Given the description of an element on the screen output the (x, y) to click on. 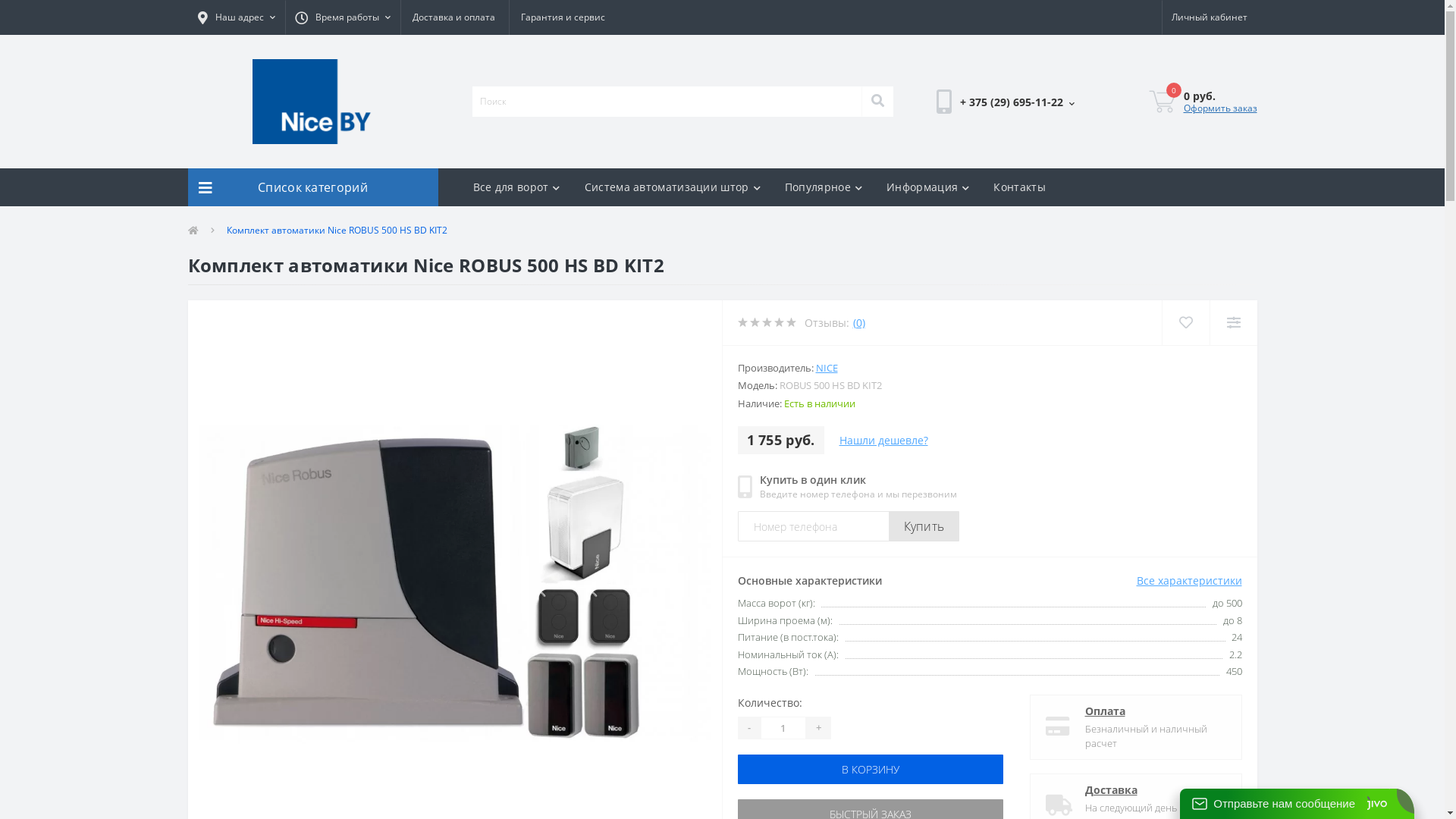
0 Element type: text (1161, 101)
- Element type: text (748, 727)
+ 375 (29) 695-11-22 Element type: text (1016, 101)
(0) Element type: text (858, 322)
+ Element type: text (817, 727)
NICE Element type: text (826, 367)
